Given the description of an element on the screen output the (x, y) to click on. 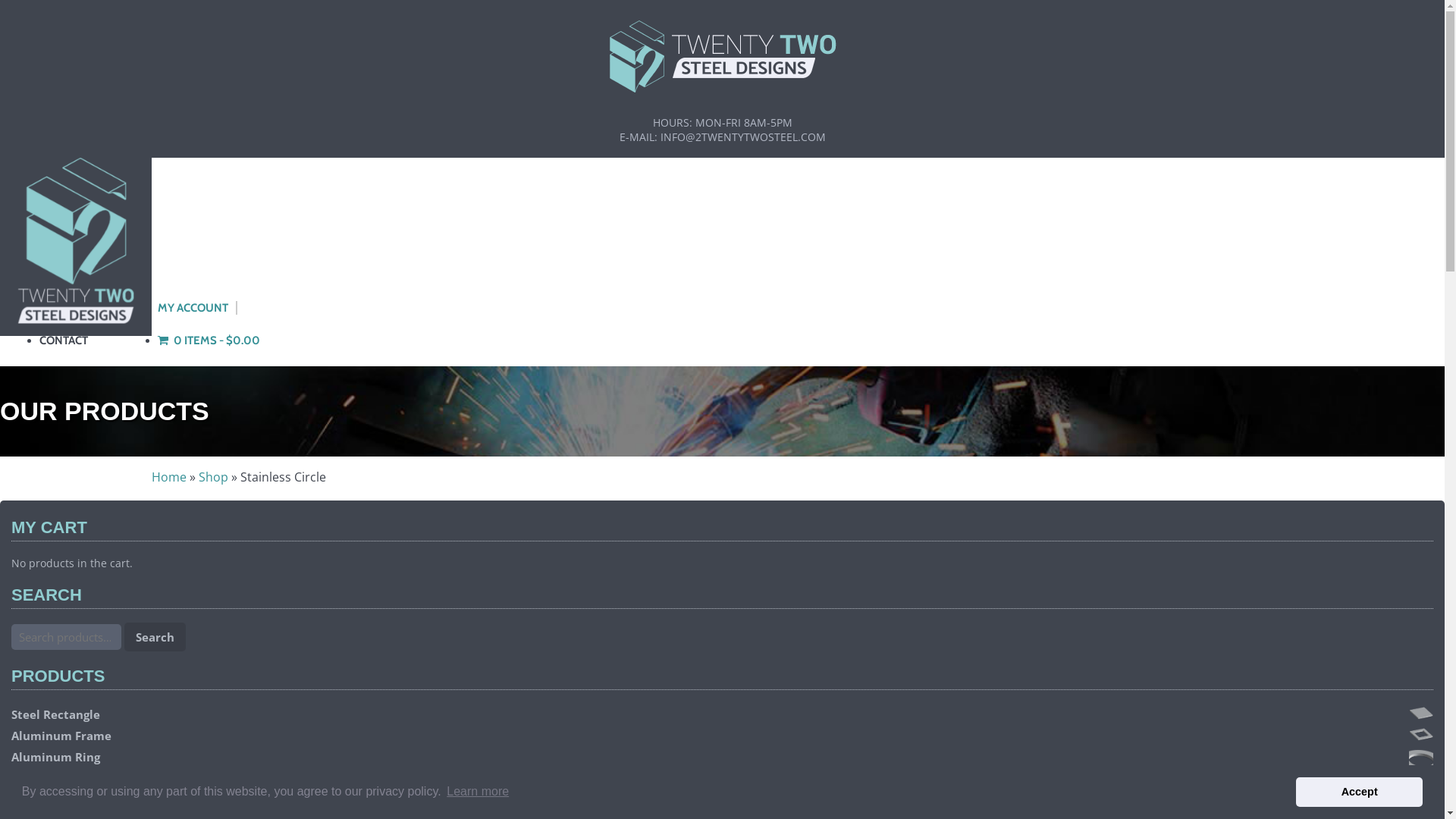
Aluminum Rectangle w/Circle Cutout Element type: text (722, 786)
Home Element type: text (168, 476)
Accept Element type: text (1358, 791)
HOME Element type: text (55, 209)
INFO@2TWENTYTWOSTEEL.COM Element type: text (742, 136)
Aluminum Ring Element type: text (722, 756)
ABOUT Element type: text (57, 307)
200 Element type: text (47, 16)
CONTACT Element type: text (63, 340)
Search Element type: text (154, 636)
MY ACCOUNT Element type: text (193, 307)
SHOP Element type: text (54, 242)
Learn more Element type: text (477, 791)
Steel Rectangle Element type: text (722, 713)
Aluminum Frame Element type: text (722, 735)
0 ITEMS - $0.00 Element type: text (208, 340)
Shop Element type: text (213, 476)
GALLERY Element type: text (62, 275)
